Given the description of an element on the screen output the (x, y) to click on. 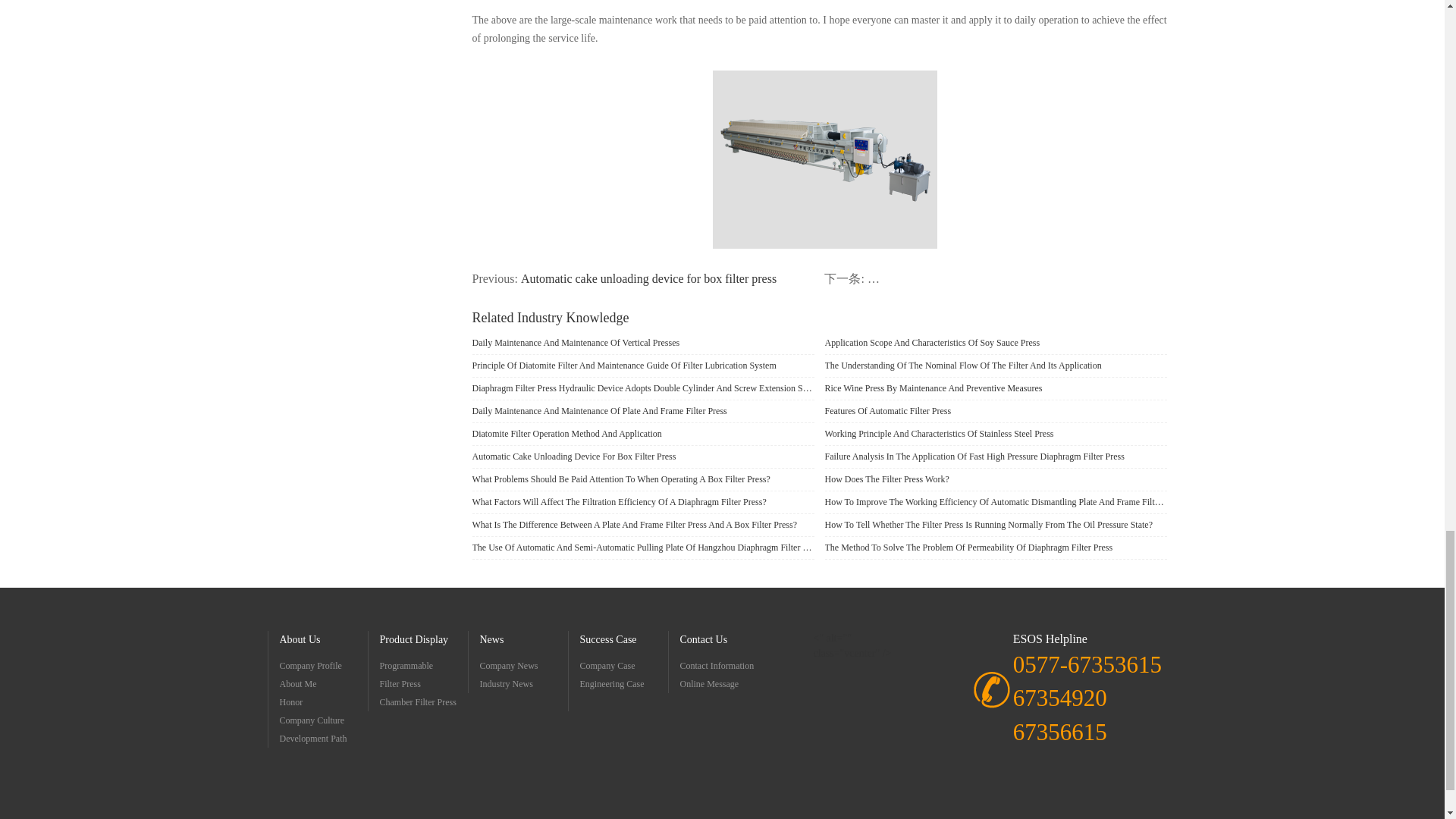
Daily Maintenance And Maintenance Of Vertical Presses (642, 342)
Automatic cake unloading device for box filter press (648, 279)
